Given the description of an element on the screen output the (x, y) to click on. 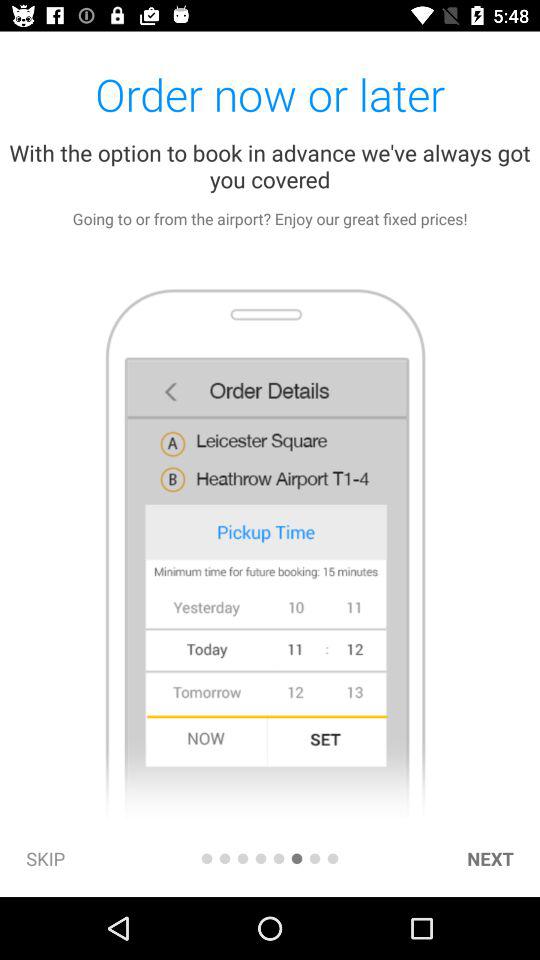
launch the icon to the right of the skip item (206, 858)
